Given the description of an element on the screen output the (x, y) to click on. 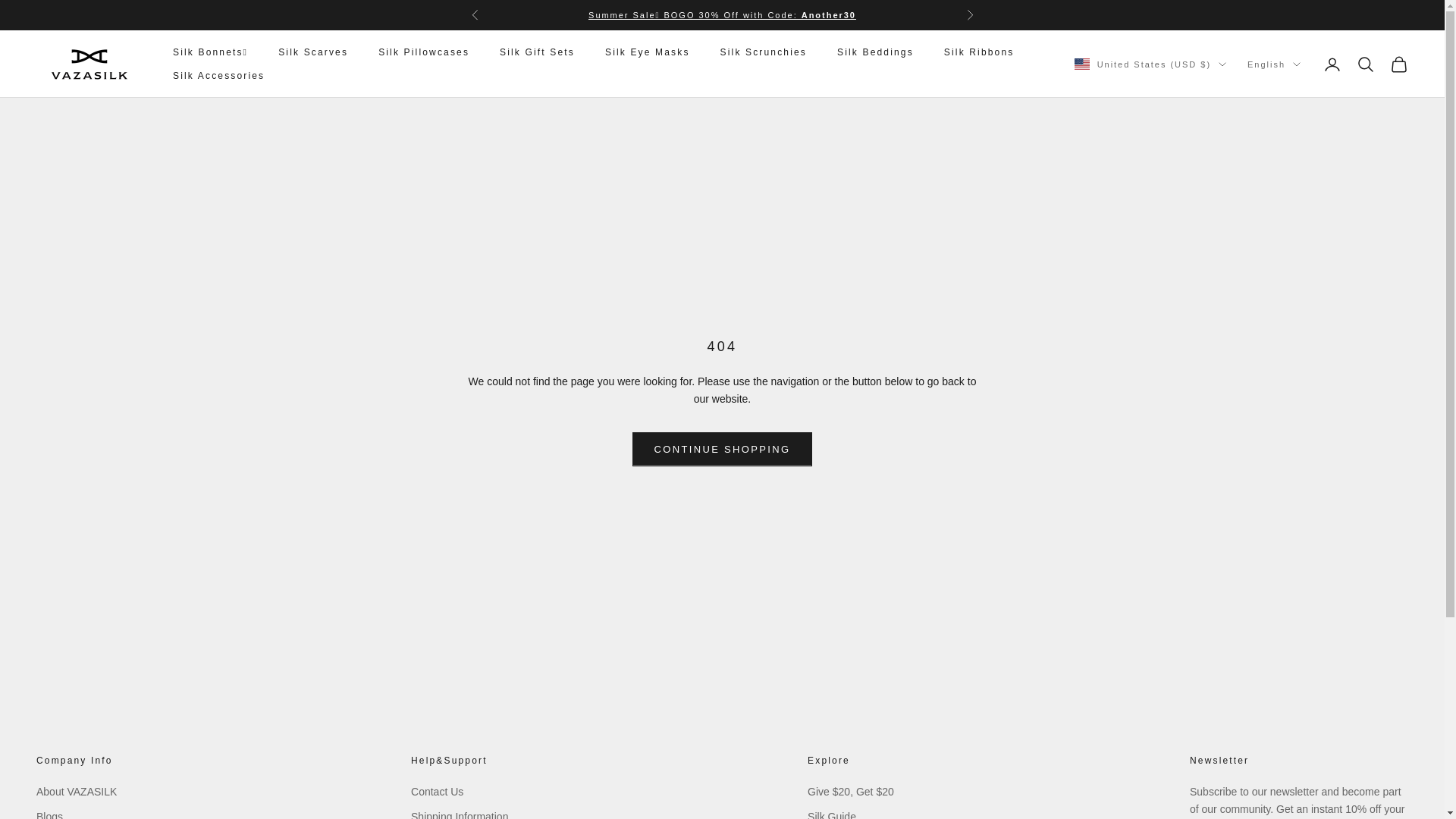
Silk Bonnets (722, 14)
VAZASILK (89, 64)
Silk Accessories (218, 75)
Silk Gift Sets (537, 52)
Silk Ribbons (978, 52)
Silk Beddings (875, 52)
Silk Scarves (312, 52)
Silk Eye Masks (647, 52)
Silk Scrunchies (763, 52)
Silk Pillowcases (423, 52)
